Given the description of an element on the screen output the (x, y) to click on. 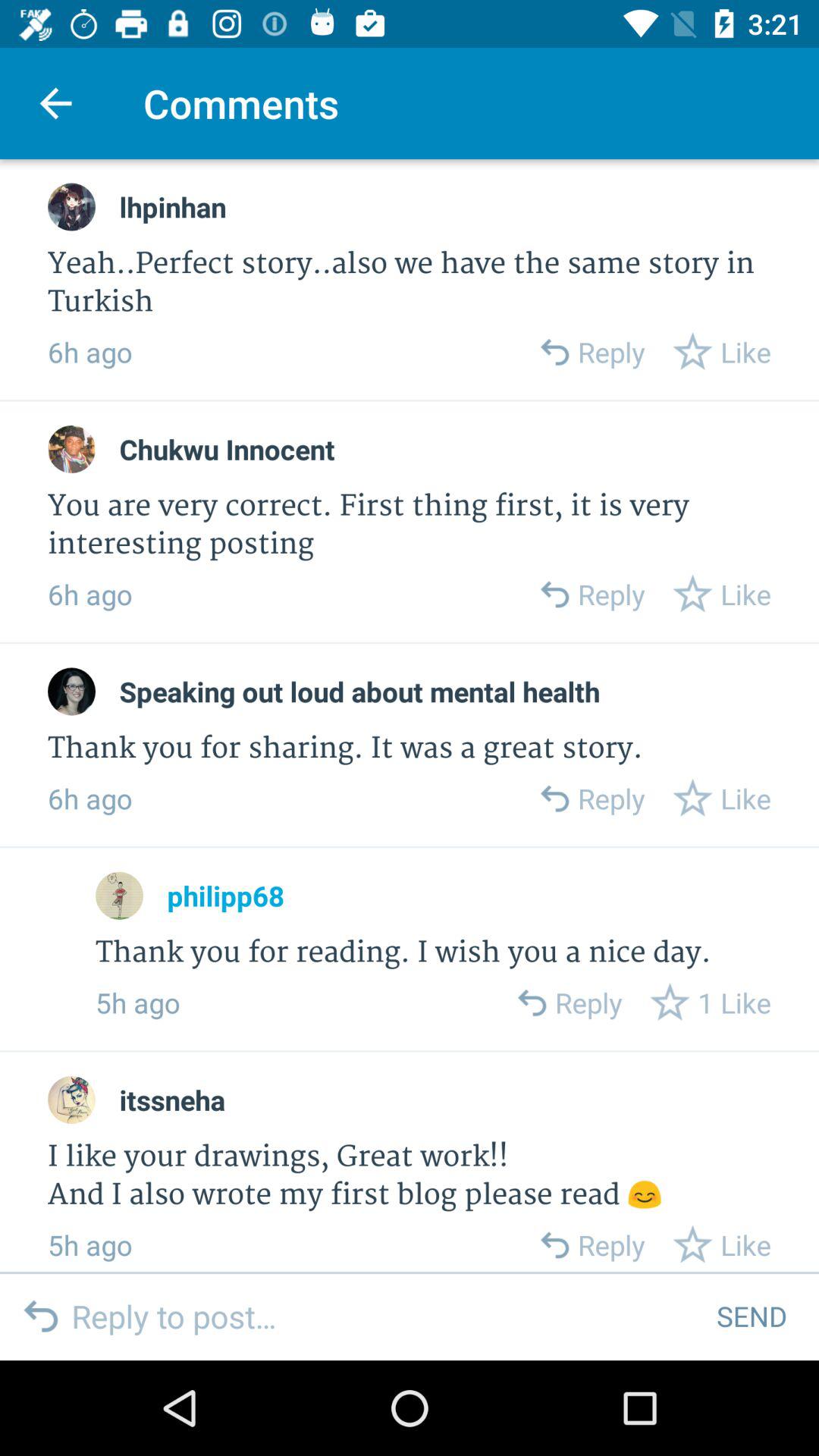
open reply box (553, 798)
